Given the description of an element on the screen output the (x, y) to click on. 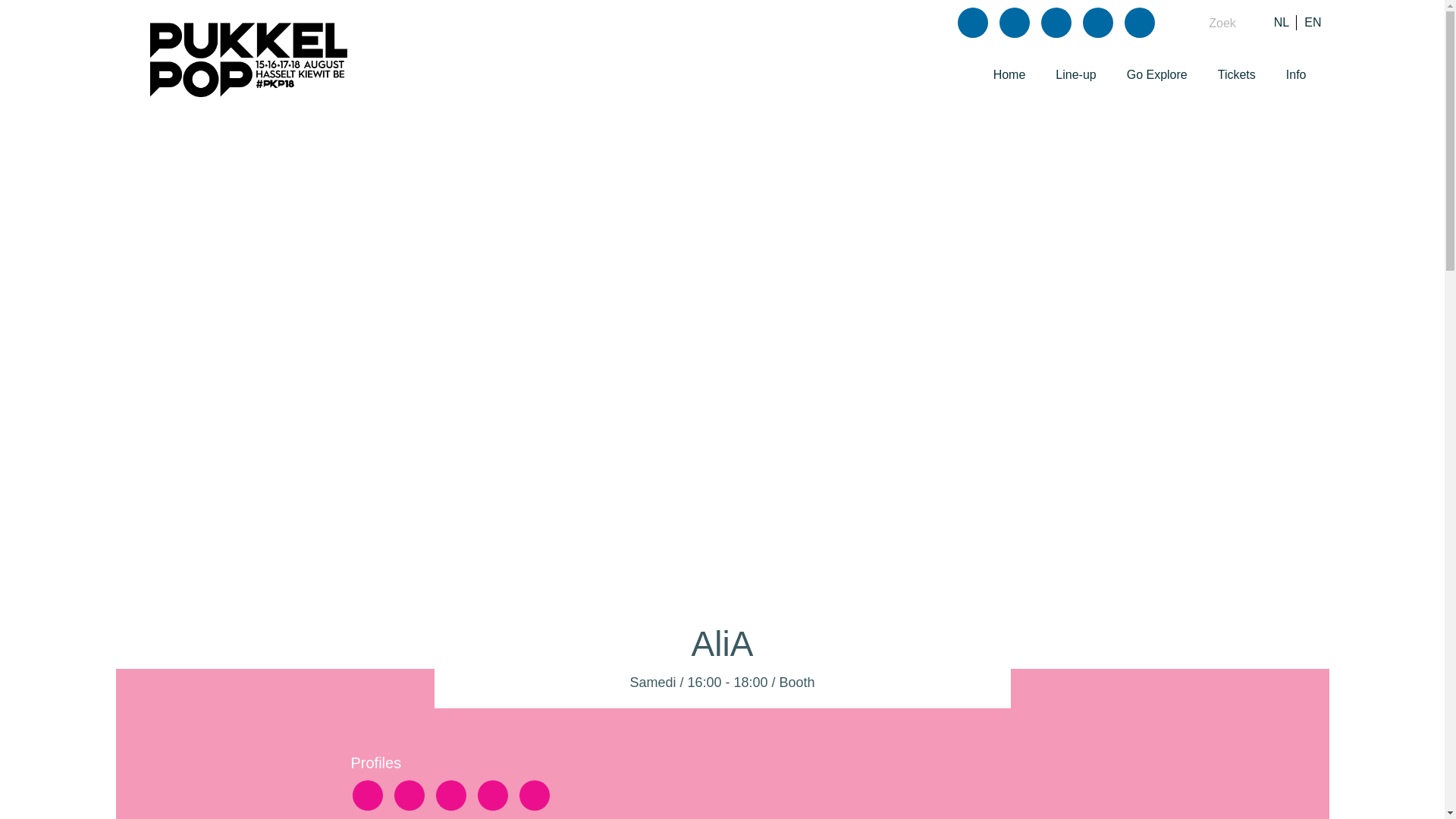
EN (1312, 21)
NL (1281, 21)
Line-up (1075, 75)
Zoek (1210, 22)
Home (1009, 75)
Tickets (1236, 75)
Go Explore (1157, 75)
Info (1295, 75)
